Given the description of an element on the screen output the (x, y) to click on. 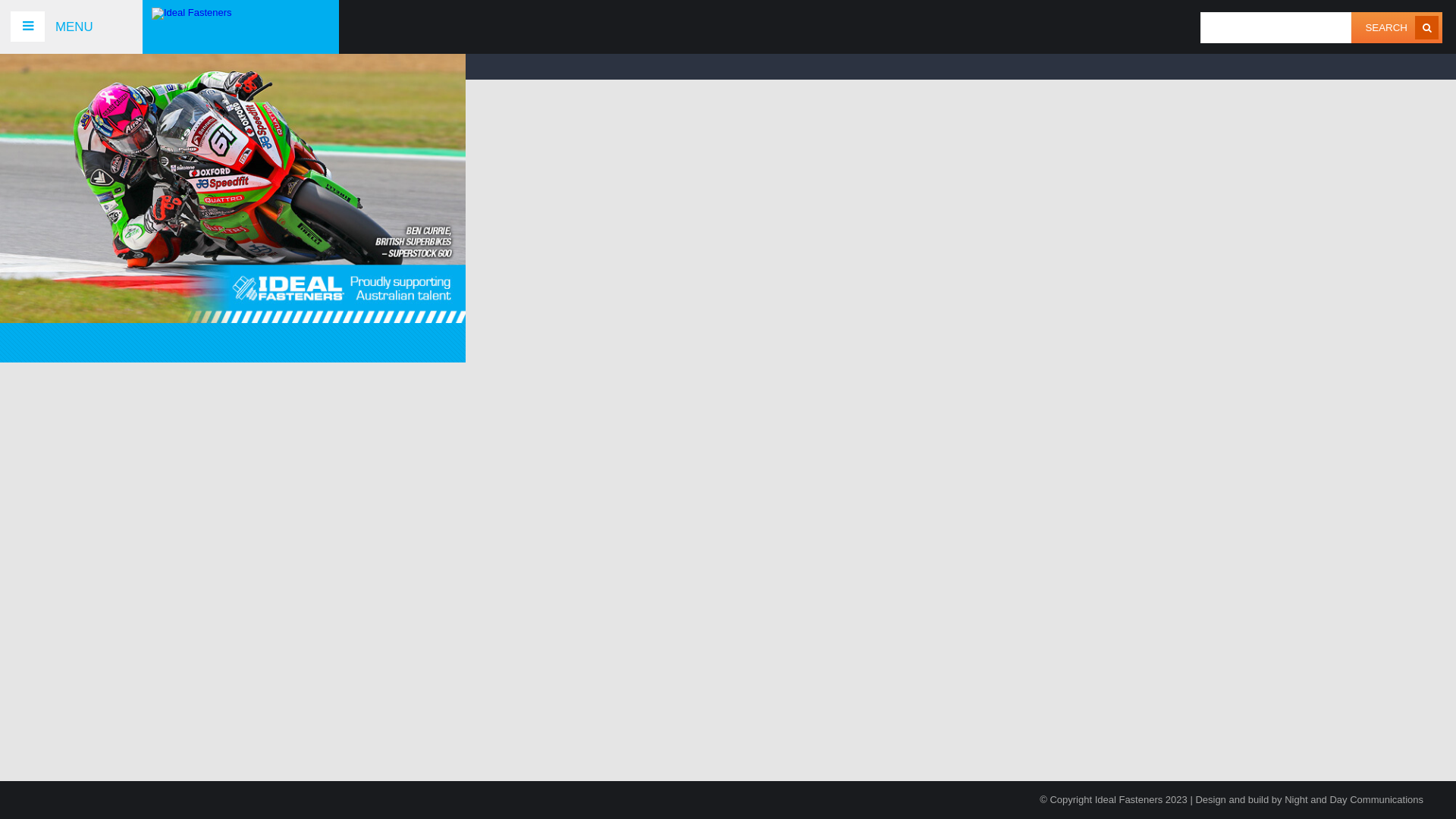
Night and Day Communications Element type: text (1353, 799)
Search Element type: text (1386, 27)
